Given the description of an element on the screen output the (x, y) to click on. 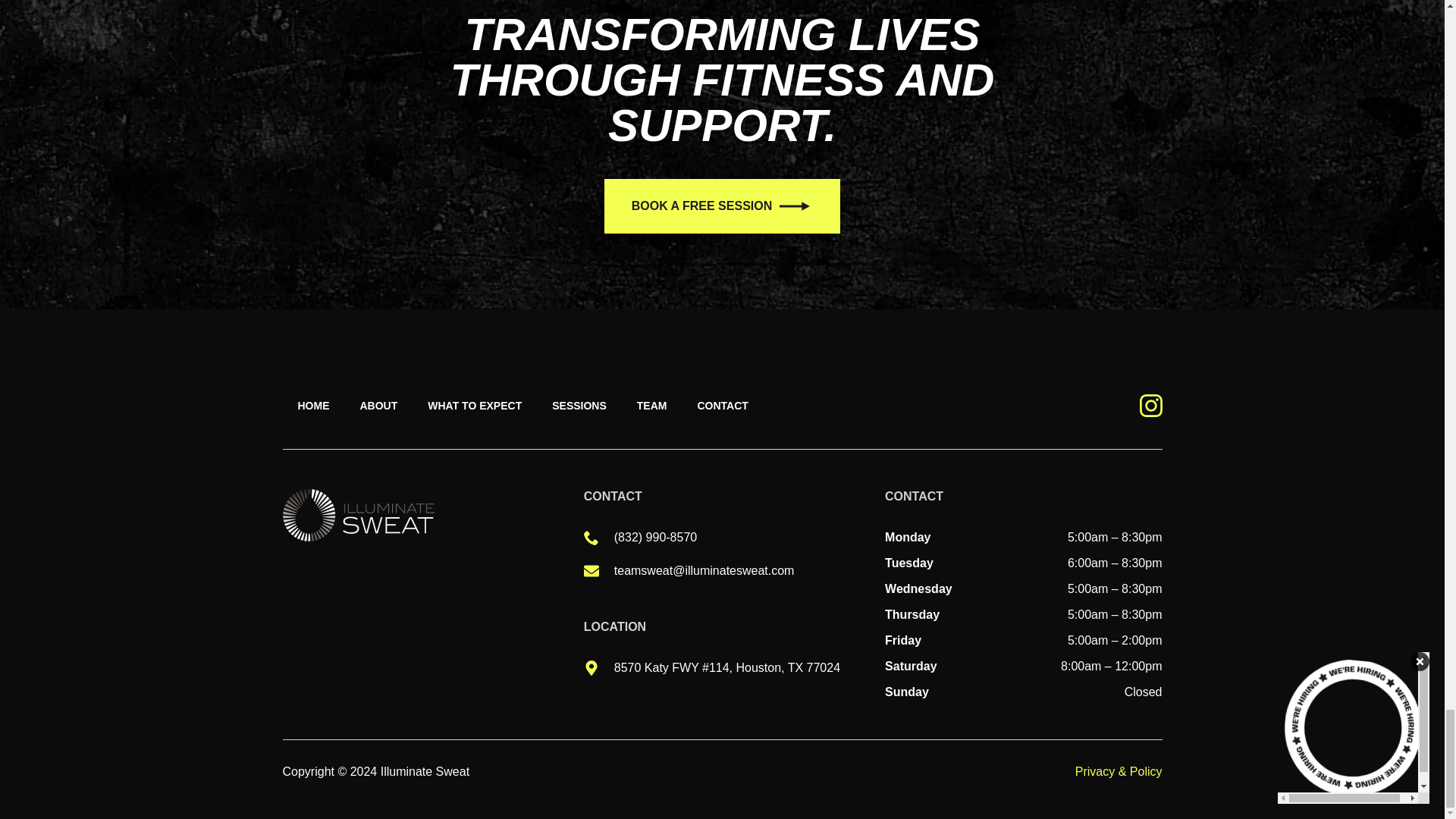
ABOUT (377, 404)
SESSIONS (579, 404)
WHAT TO EXPECT (474, 404)
CONTACT (721, 404)
BOOK A FREE SESSION (722, 206)
HOME (312, 404)
TEAM (651, 404)
